Given the description of an element on the screen output the (x, y) to click on. 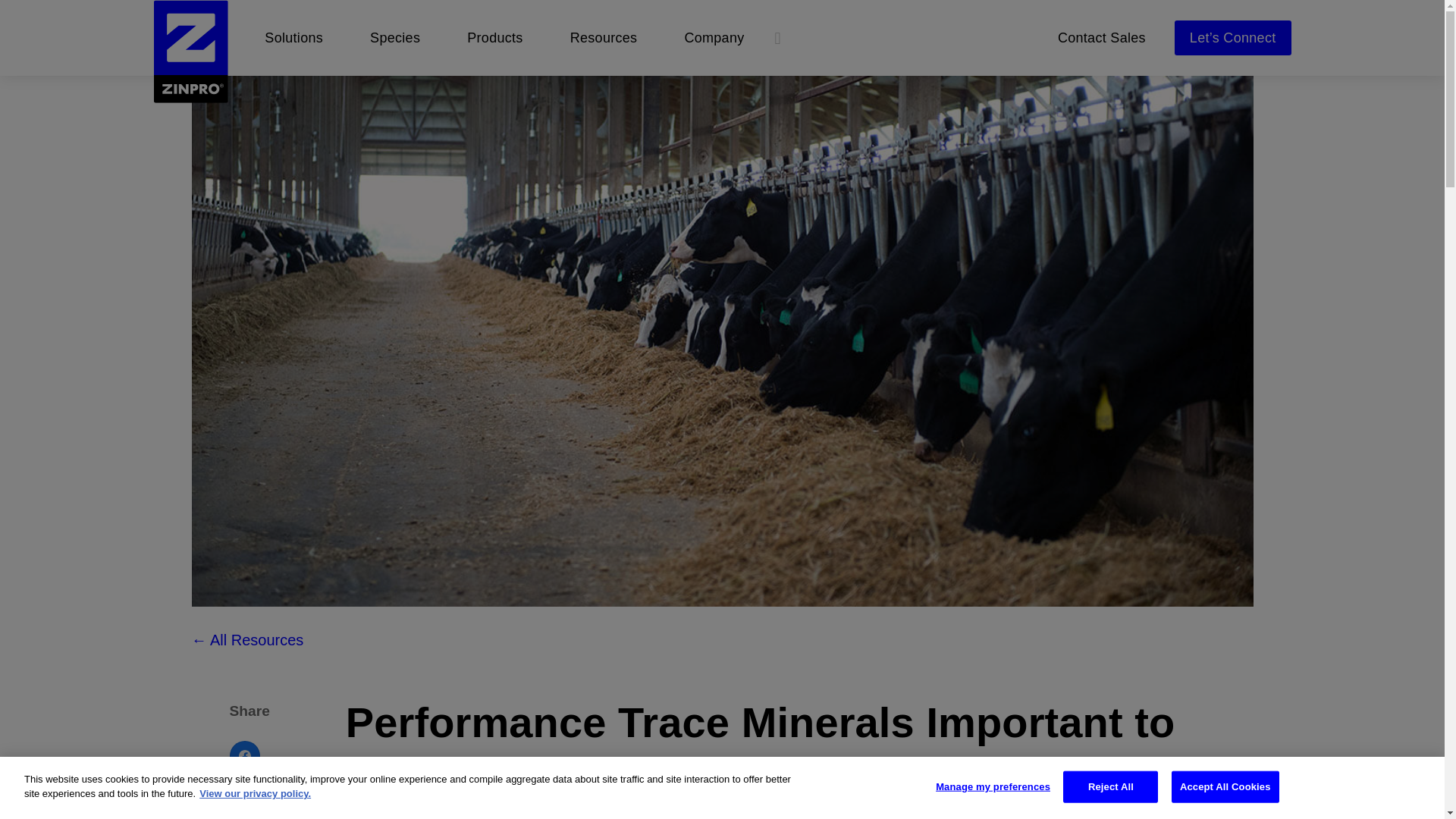
Species (395, 38)
Solutions (293, 38)
